Given the description of an element on the screen output the (x, y) to click on. 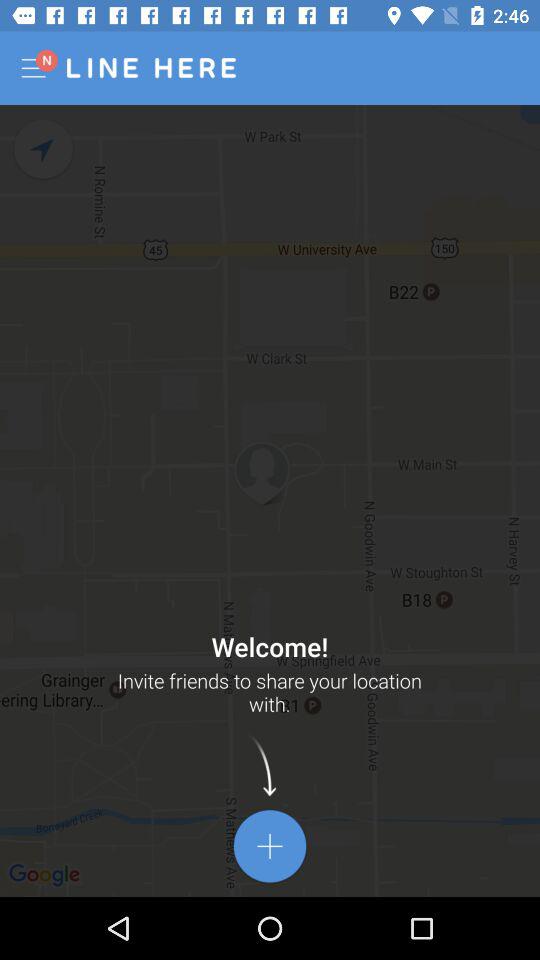
start naviagation (44, 149)
